Given the description of an element on the screen output the (x, y) to click on. 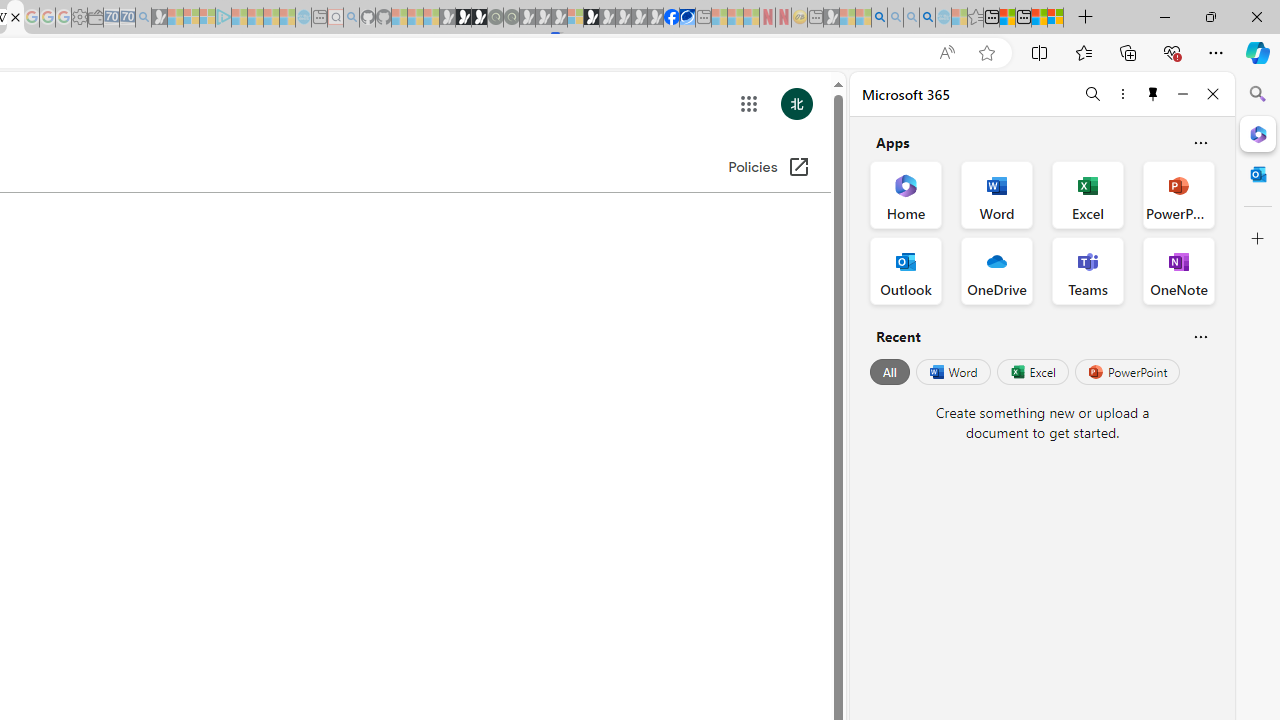
Word Office App (996, 194)
Outlook Office App (906, 270)
Google Chrome Internet Browser Download - Search Images (927, 17)
Aberdeen, Hong Kong SAR weather forecast | Microsoft Weather (1007, 17)
Policies (Open in a new window) (769, 168)
